Given the description of an element on the screen output the (x, y) to click on. 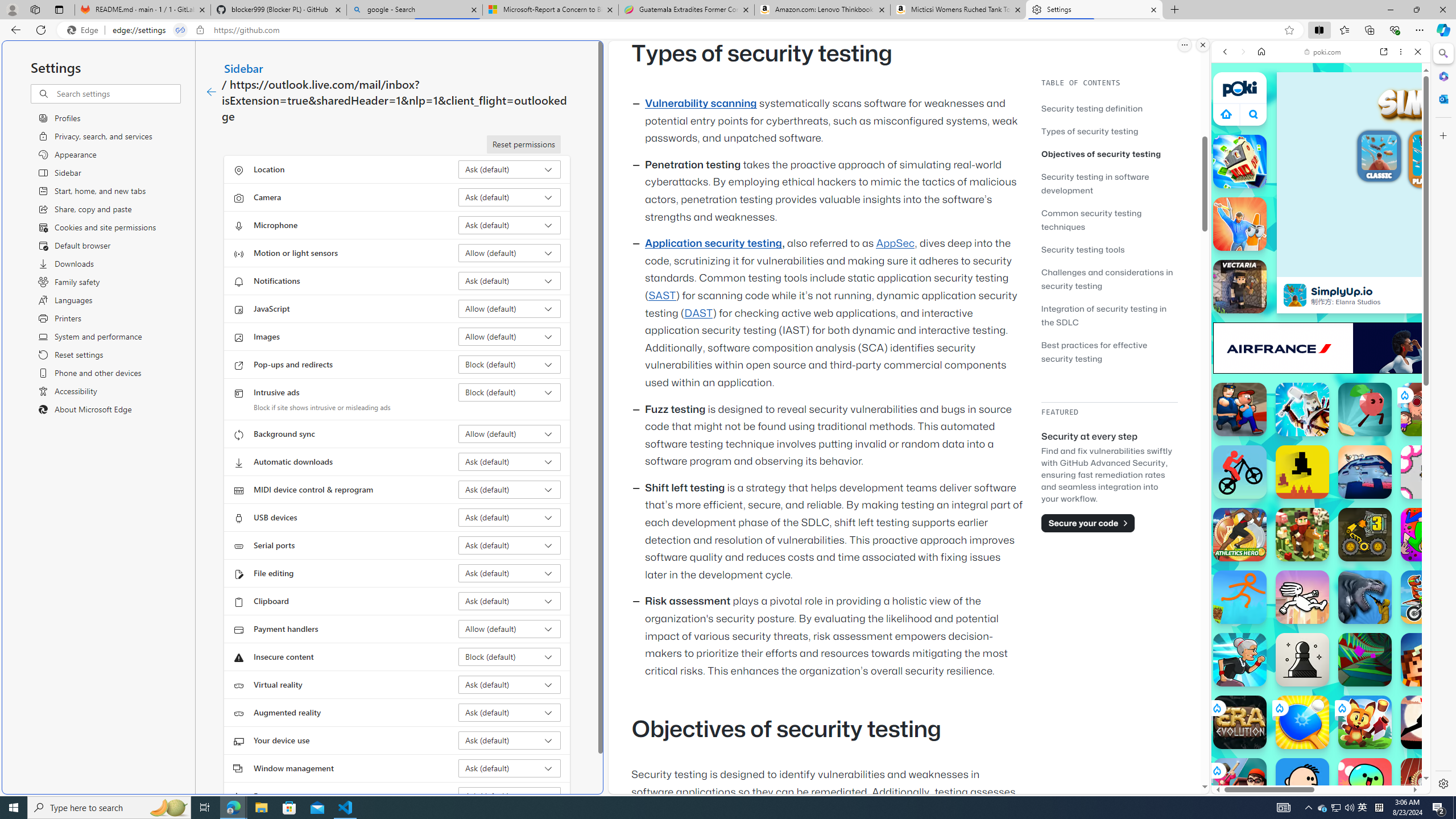
Security testing tools (1083, 248)
Images Allow (default) (509, 336)
Pop-ups and redirects Block (default) (509, 364)
USB devices Ask (default) (509, 517)
Objectives of security testing (1109, 153)
Show More Car Games (1390, 268)
Serial ports Ask (default) (509, 545)
Search results from poki.com (1299, 443)
Into the Pit Into the Pit (1427, 471)
100 Metres Race (1427, 784)
